Given the description of an element on the screen output the (x, y) to click on. 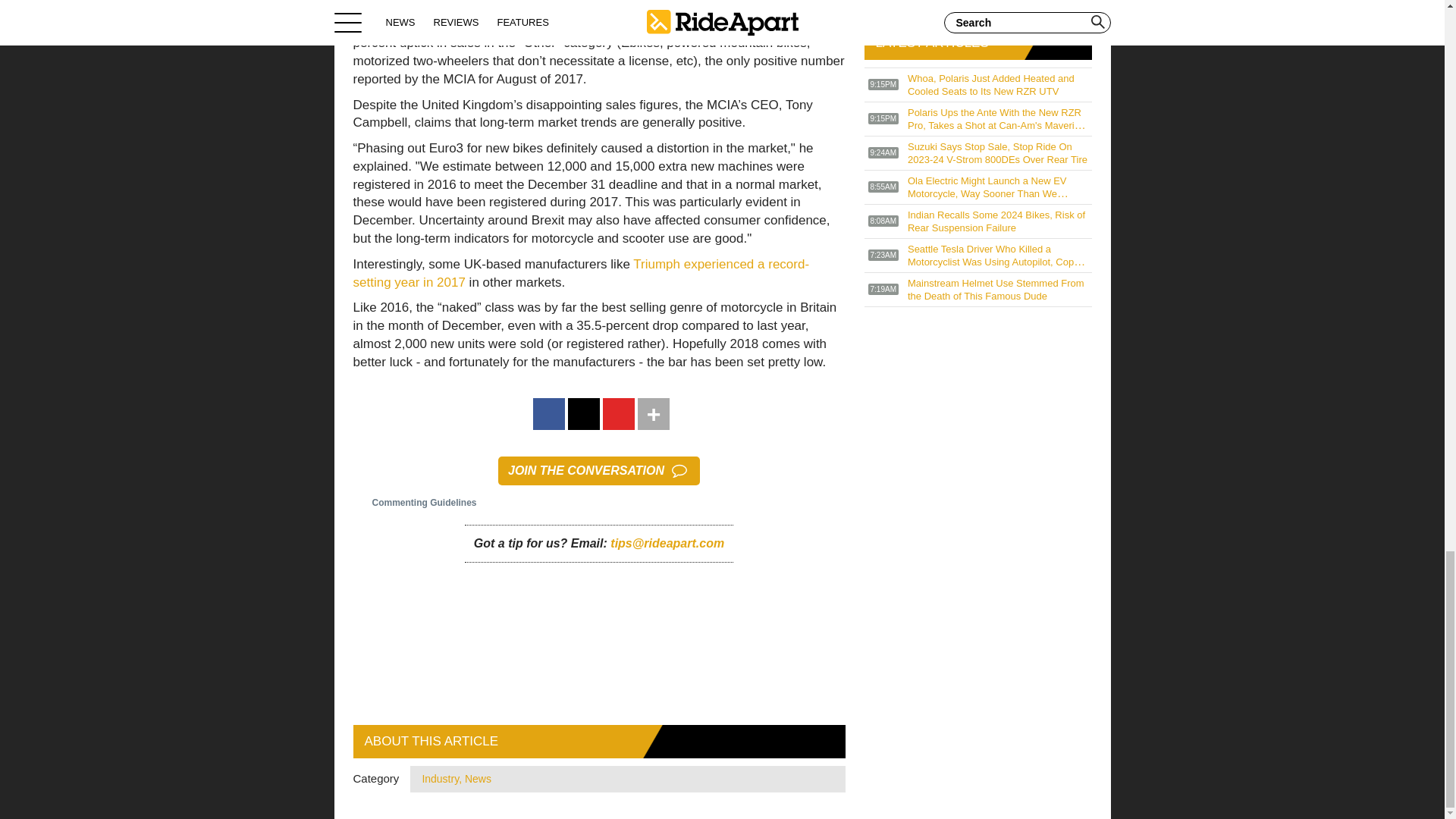
Triumph experienced a record-setting year in 2017 (581, 273)
Commenting Guidelines (415, 502)
JOIN THE CONVERSATION (598, 470)
